Given the description of an element on the screen output the (x, y) to click on. 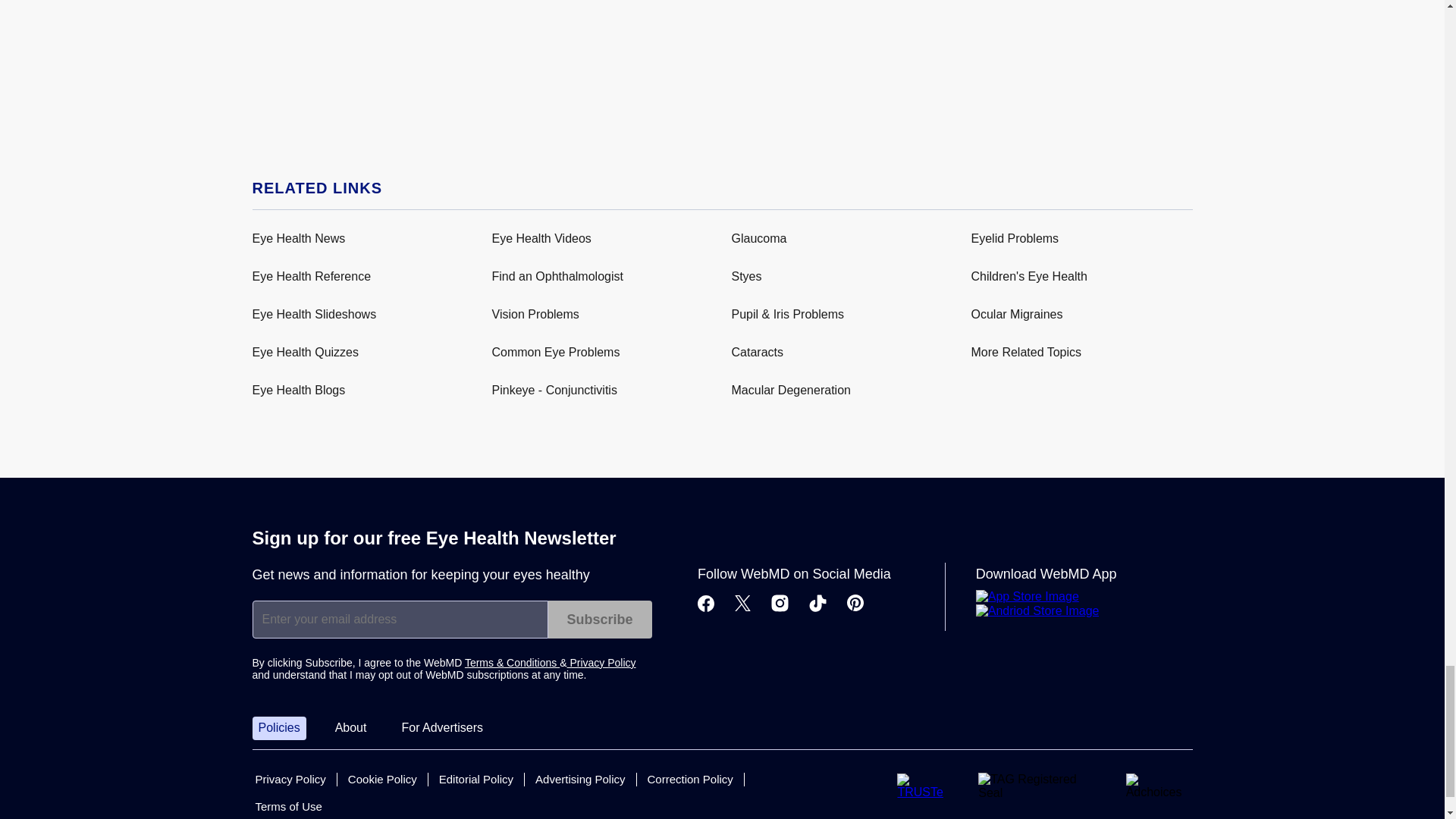
Adchoices (1158, 786)
TRUSTe Privacy Certification (924, 786)
TAG Registered Seal (1039, 786)
